Given the description of an element on the screen output the (x, y) to click on. 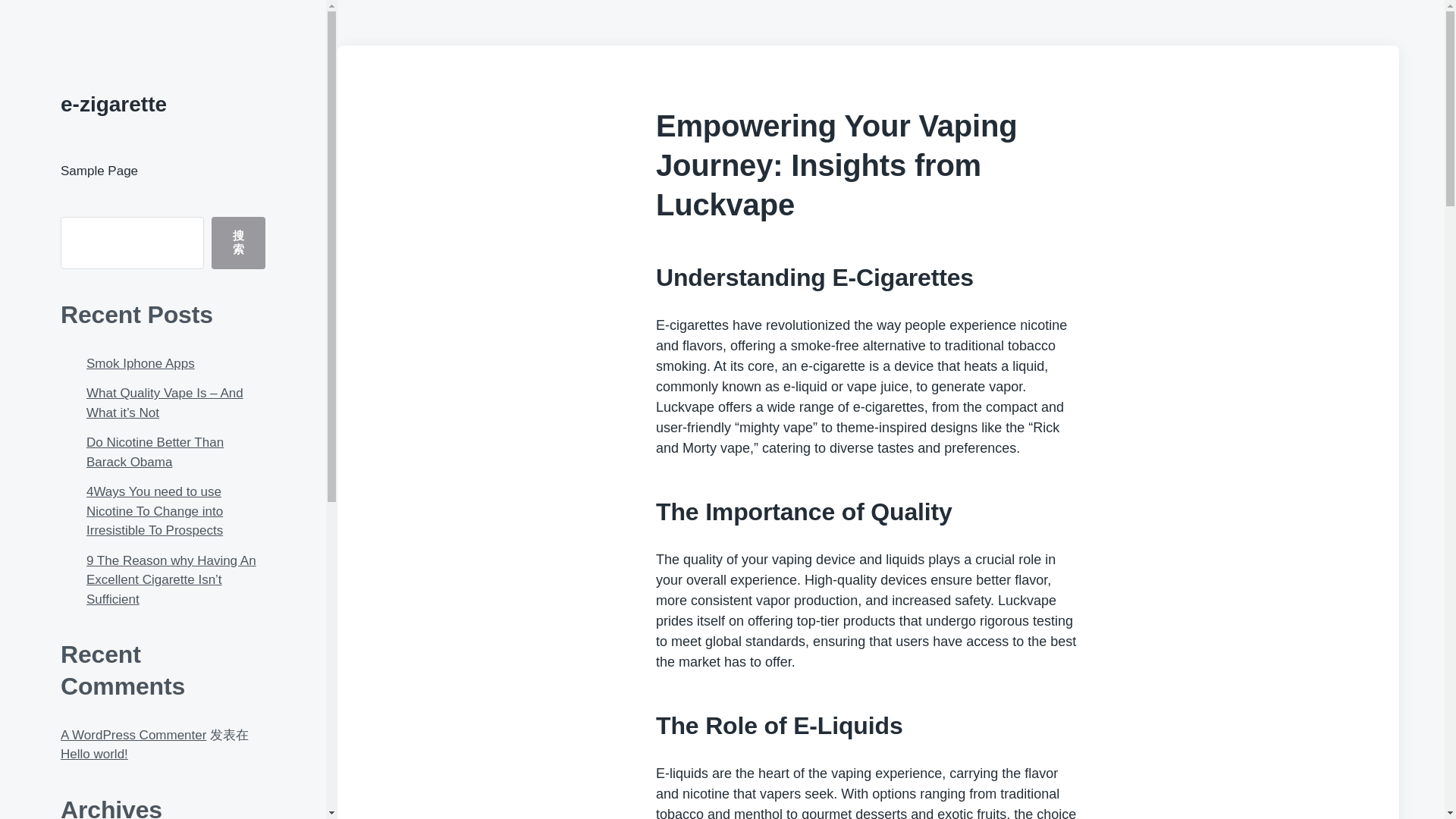
Sample Page (99, 170)
Hello world! (94, 753)
e-zigarette (114, 104)
Do Nicotine Better Than Barack Obama (154, 451)
A WordPress Commenter (133, 735)
Smok Iphone Apps (140, 363)
